Given the description of an element on the screen output the (x, y) to click on. 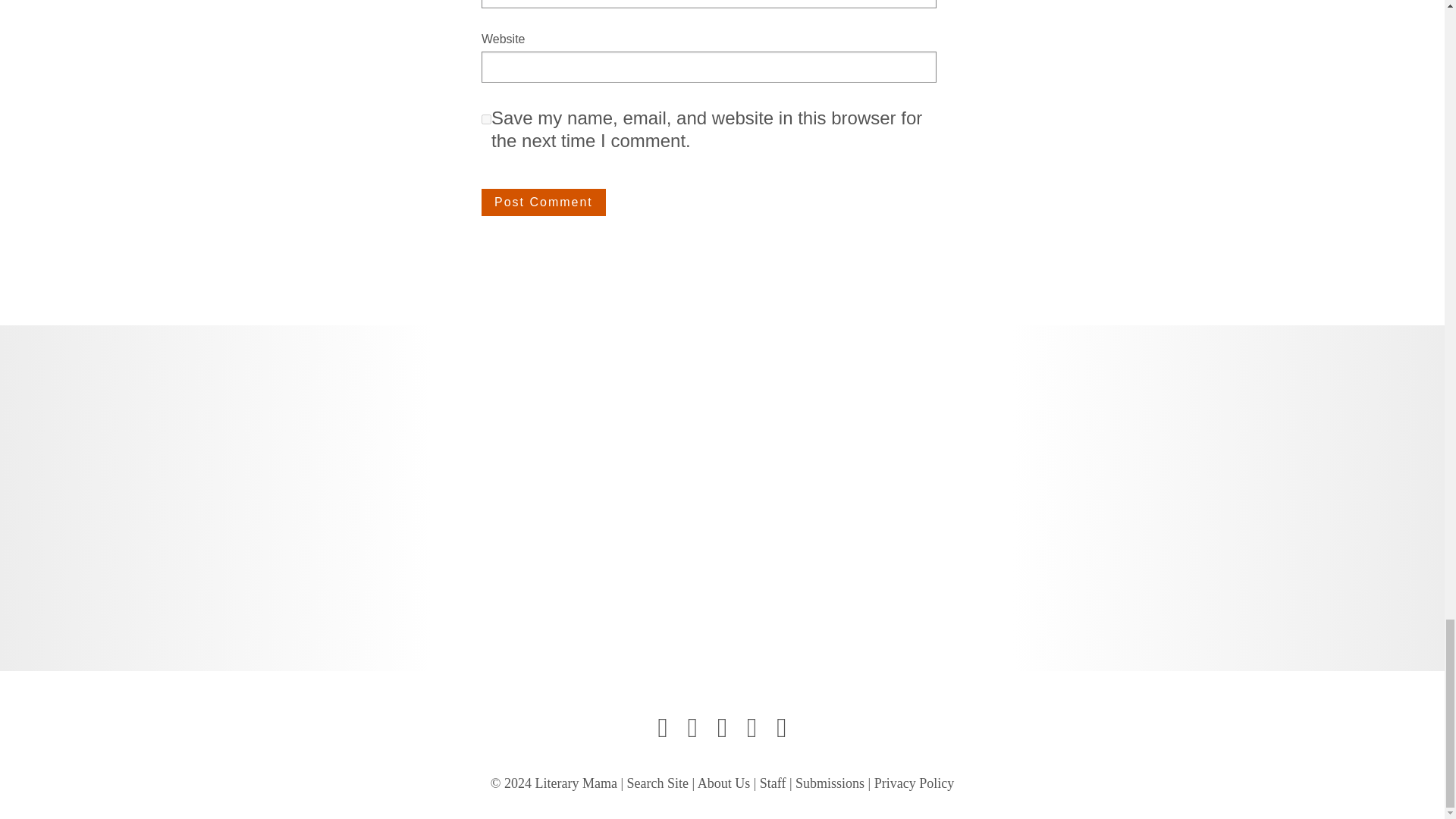
Post Comment (543, 202)
Post Comment (543, 202)
yes (486, 119)
About Us (724, 783)
Submissions (829, 783)
Search Site (657, 783)
Staff (773, 783)
